Given the description of an element on the screen output the (x, y) to click on. 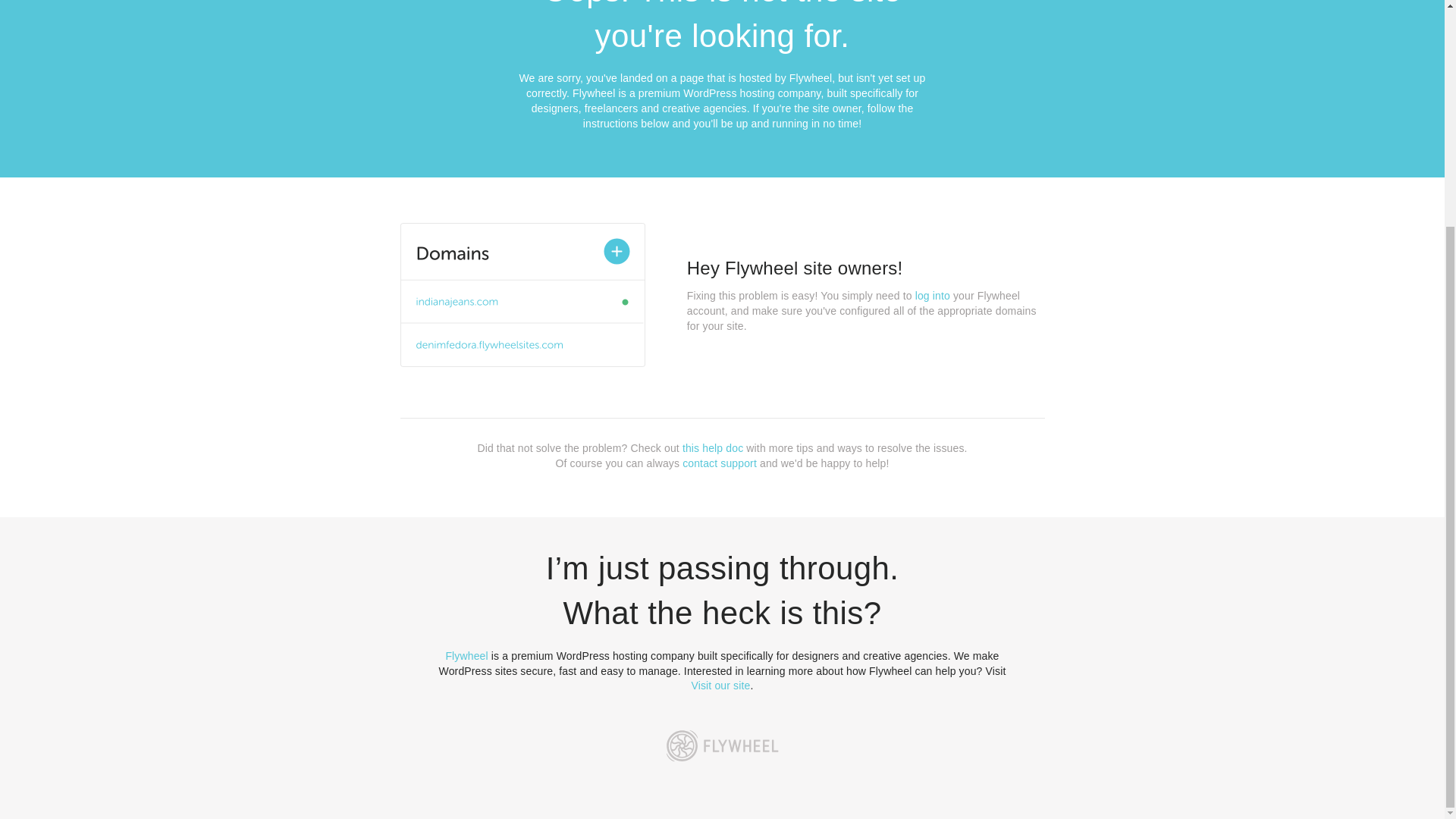
contact support (719, 463)
this help doc (712, 448)
Flywheel (466, 655)
log into (932, 295)
Visit our site (721, 685)
